Given the description of an element on the screen output the (x, y) to click on. 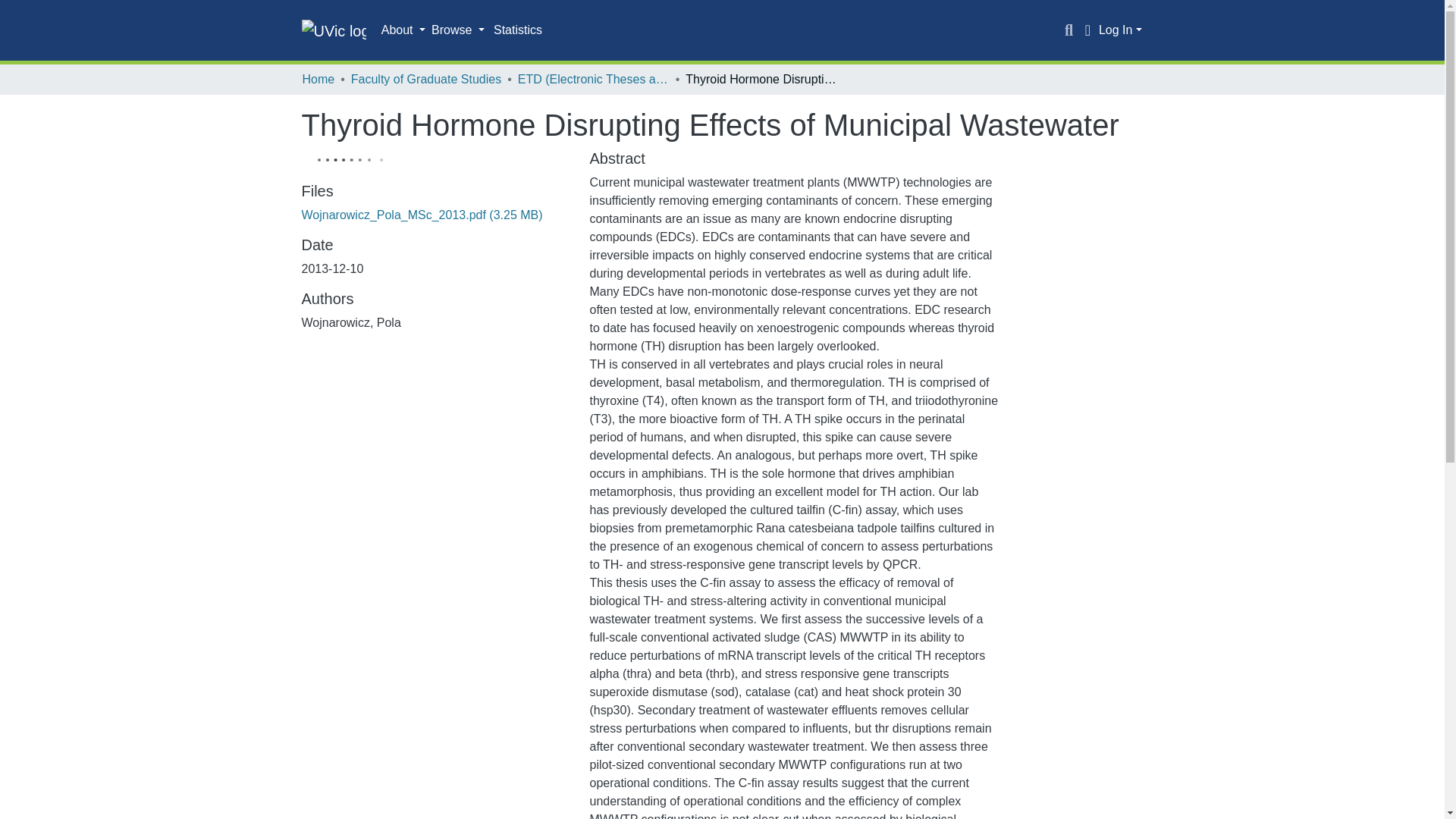
Search (1068, 30)
Home (317, 79)
About (403, 30)
Faculty of Graduate Studies (425, 79)
Statistics (517, 30)
Log In (1119, 29)
Browse (457, 30)
Statistics (517, 30)
Language switch (1087, 30)
